Given the description of an element on the screen output the (x, y) to click on. 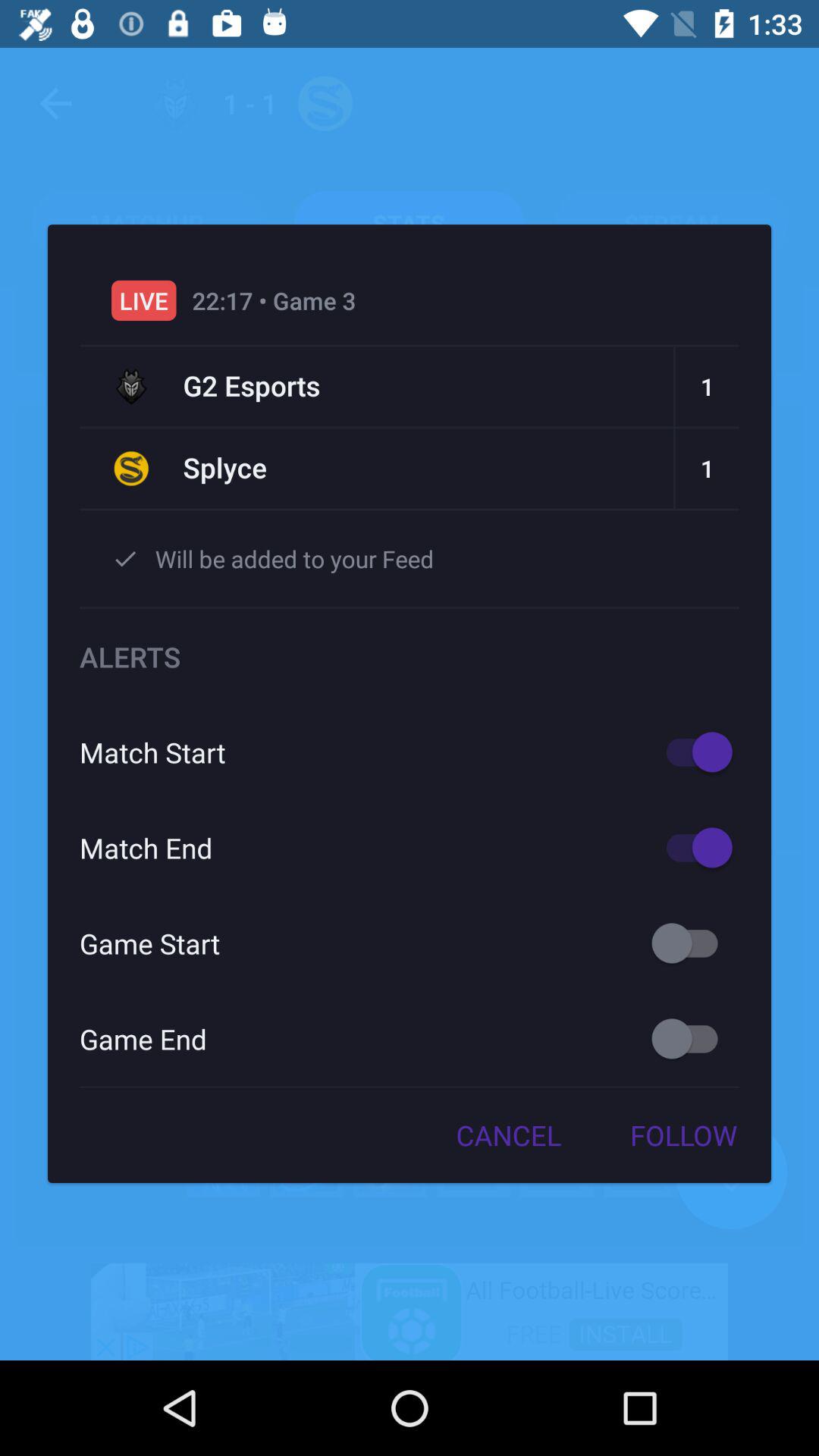
game end open option (691, 1038)
